Given the description of an element on the screen output the (x, y) to click on. 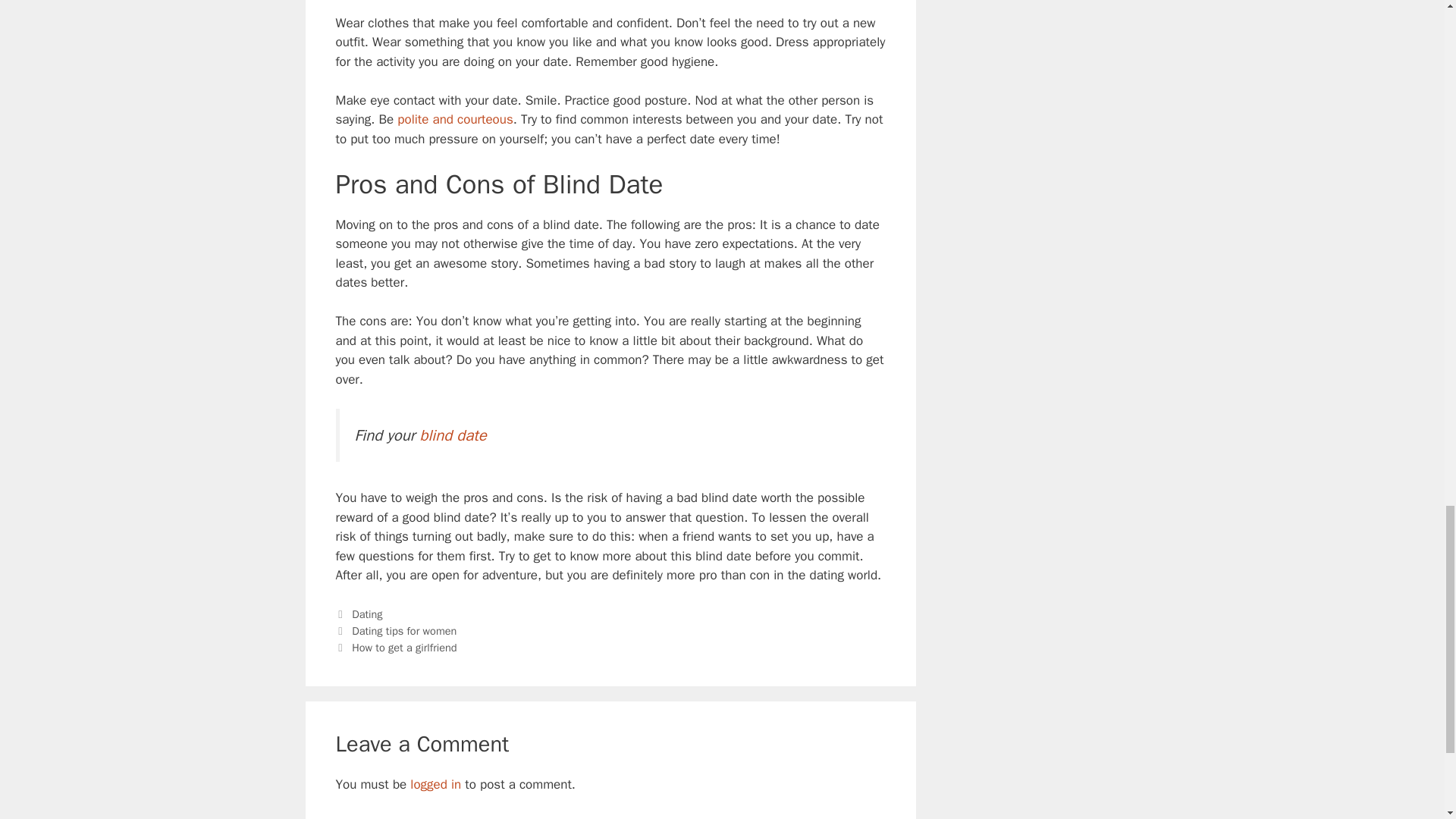
logged in (435, 784)
Dating (366, 613)
blind date (452, 435)
Dating tips for women (404, 631)
How to get a girlfriend (404, 647)
polite and courteous (454, 119)
